Given the description of an element on the screen output the (x, y) to click on. 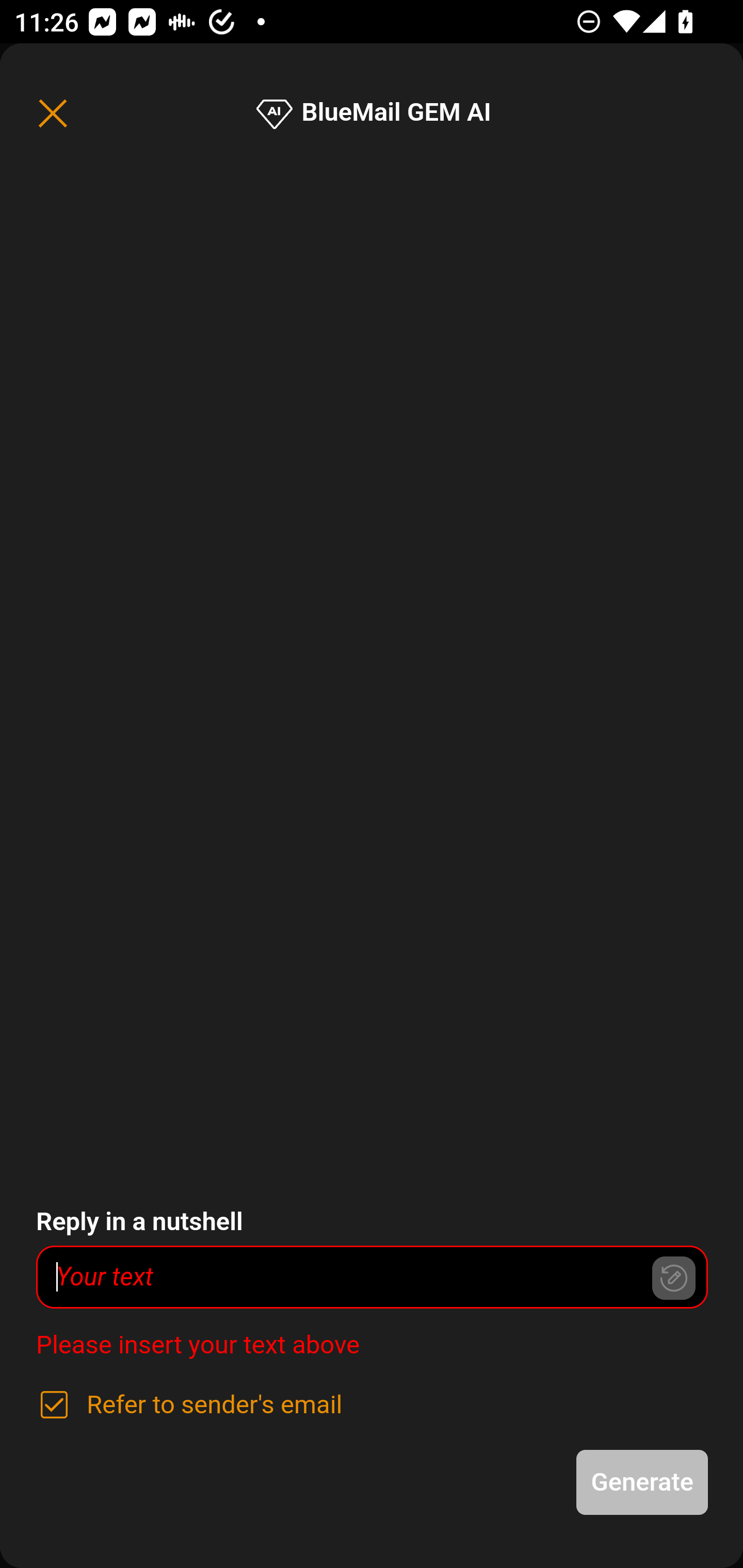
Generate (642, 1482)
